Given the description of an element on the screen output the (x, y) to click on. 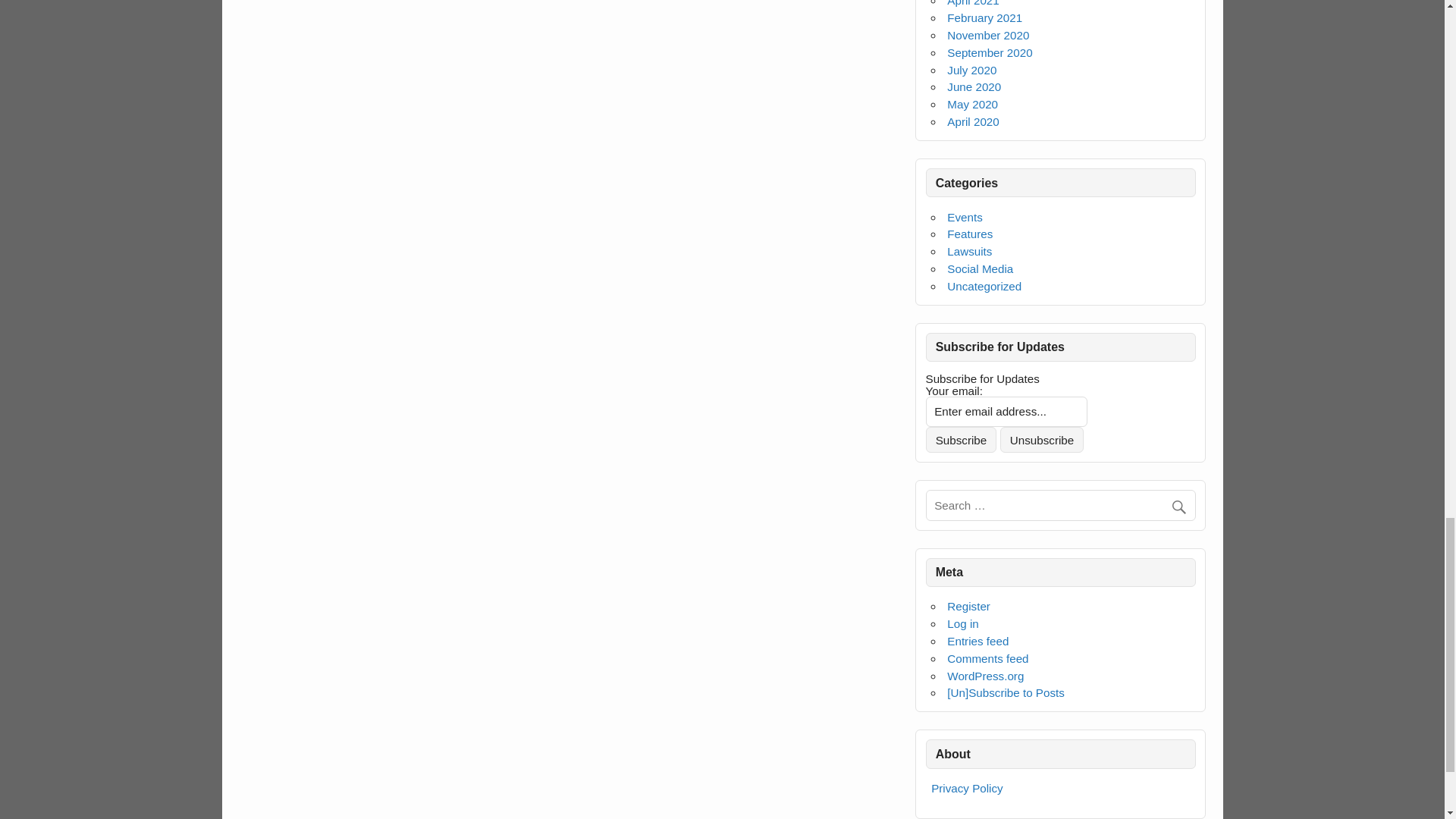
Unsubscribe (1042, 439)
May 2020 (972, 103)
April 2021 (972, 3)
July 2020 (971, 69)
February 2021 (984, 17)
Subscribe (961, 439)
November 2020 (988, 34)
September 2020 (989, 51)
June 2020 (974, 86)
Enter email address... (1006, 411)
April 2020 (972, 121)
